Given the description of an element on the screen output the (x, y) to click on. 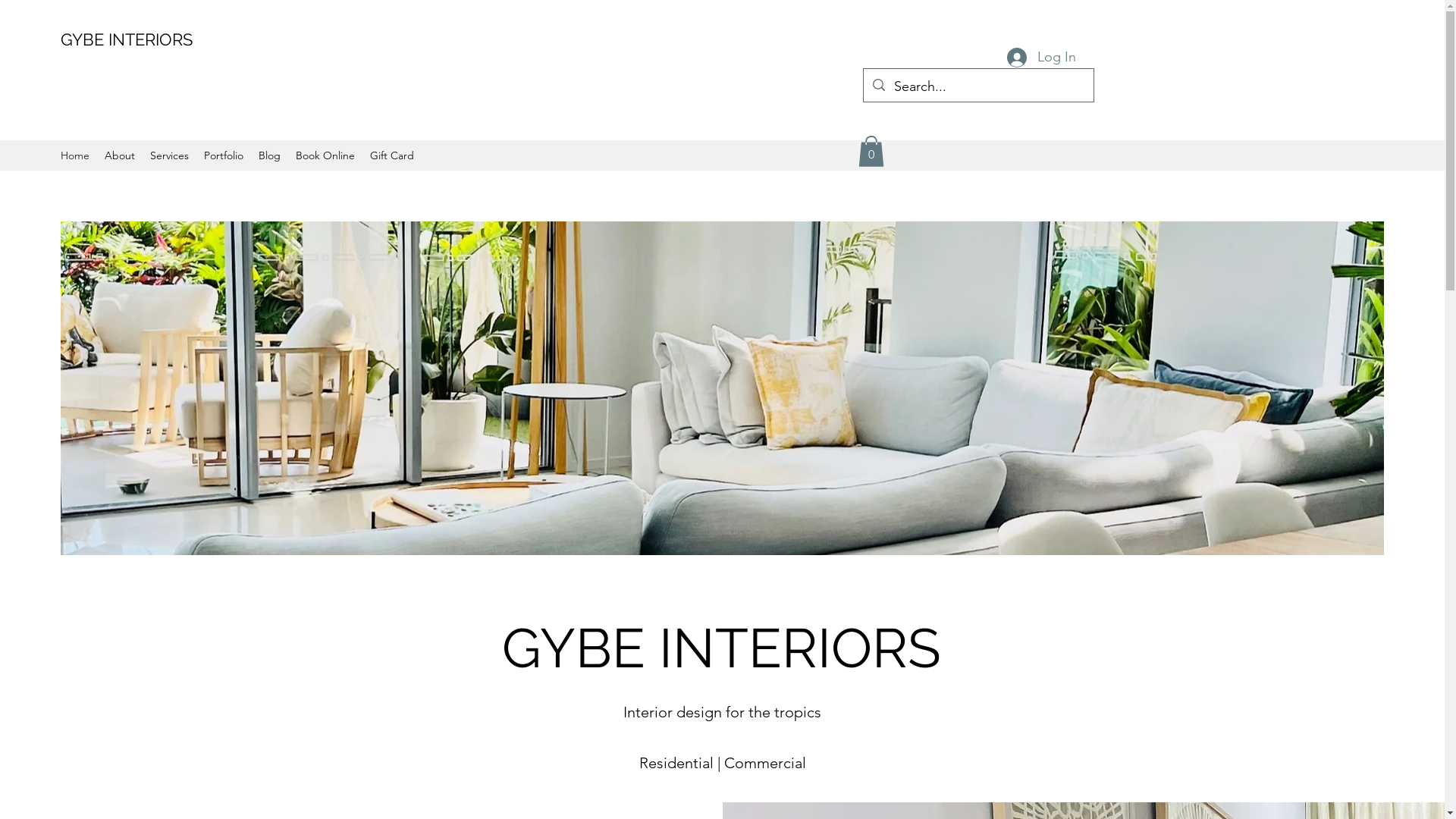
Log In Element type: text (1041, 57)
About Element type: text (119, 155)
GYBE INTERIORS Element type: text (126, 39)
Book Online Element type: text (325, 155)
Blog Element type: text (269, 155)
Portfolio Element type: text (223, 155)
0 Element type: text (871, 150)
Gift Card Element type: text (391, 155)
Home Element type: text (75, 155)
Services Element type: text (169, 155)
